Given the description of an element on the screen output the (x, y) to click on. 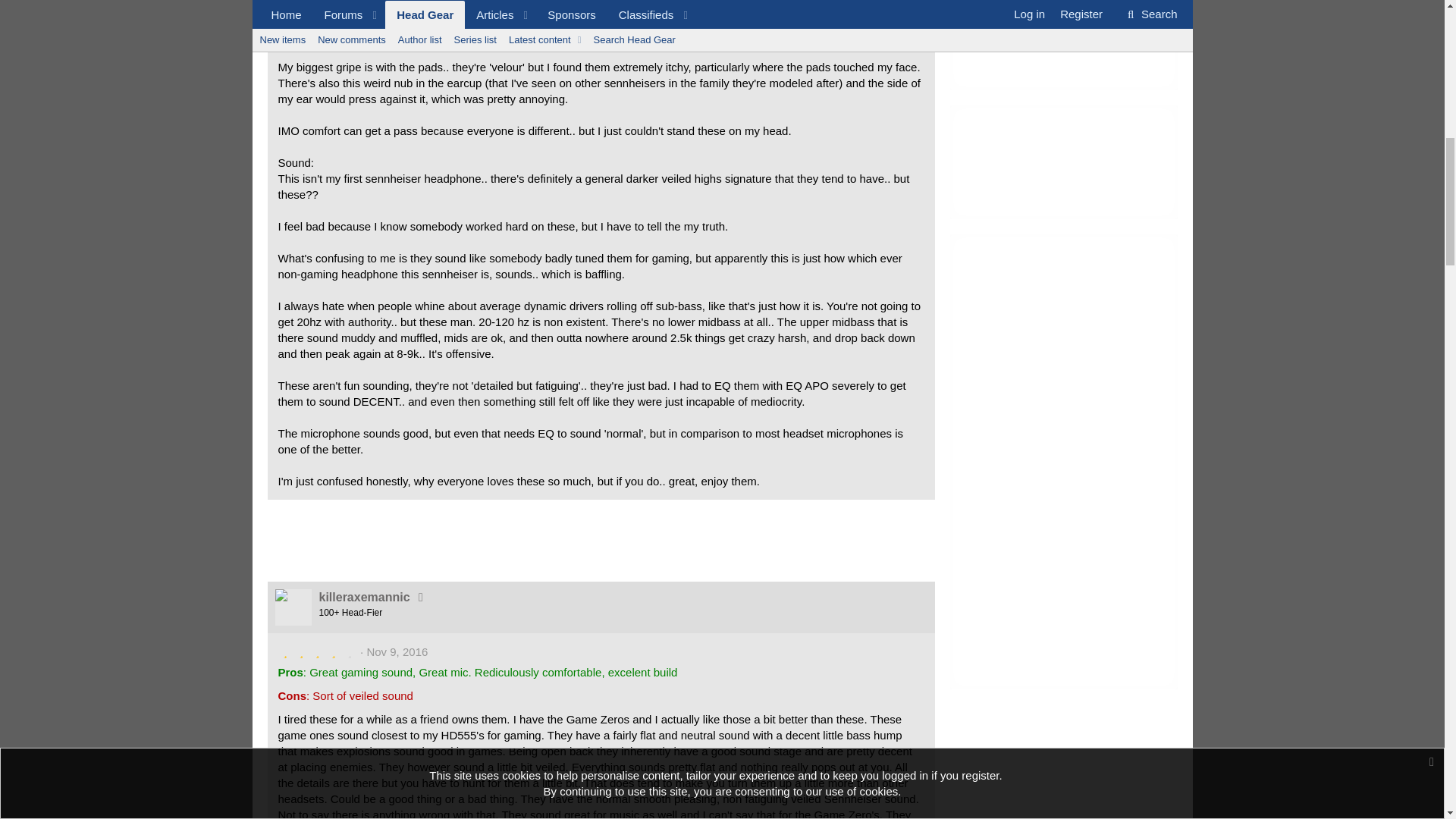
3rd party ad content (1062, 45)
Send killeraxemannic a private message (420, 596)
Nov 9, 2016 at 12:14 PM (397, 651)
3rd party ad content (1062, 461)
3rd party ad content (1062, 162)
